Given the description of an element on the screen output the (x, y) to click on. 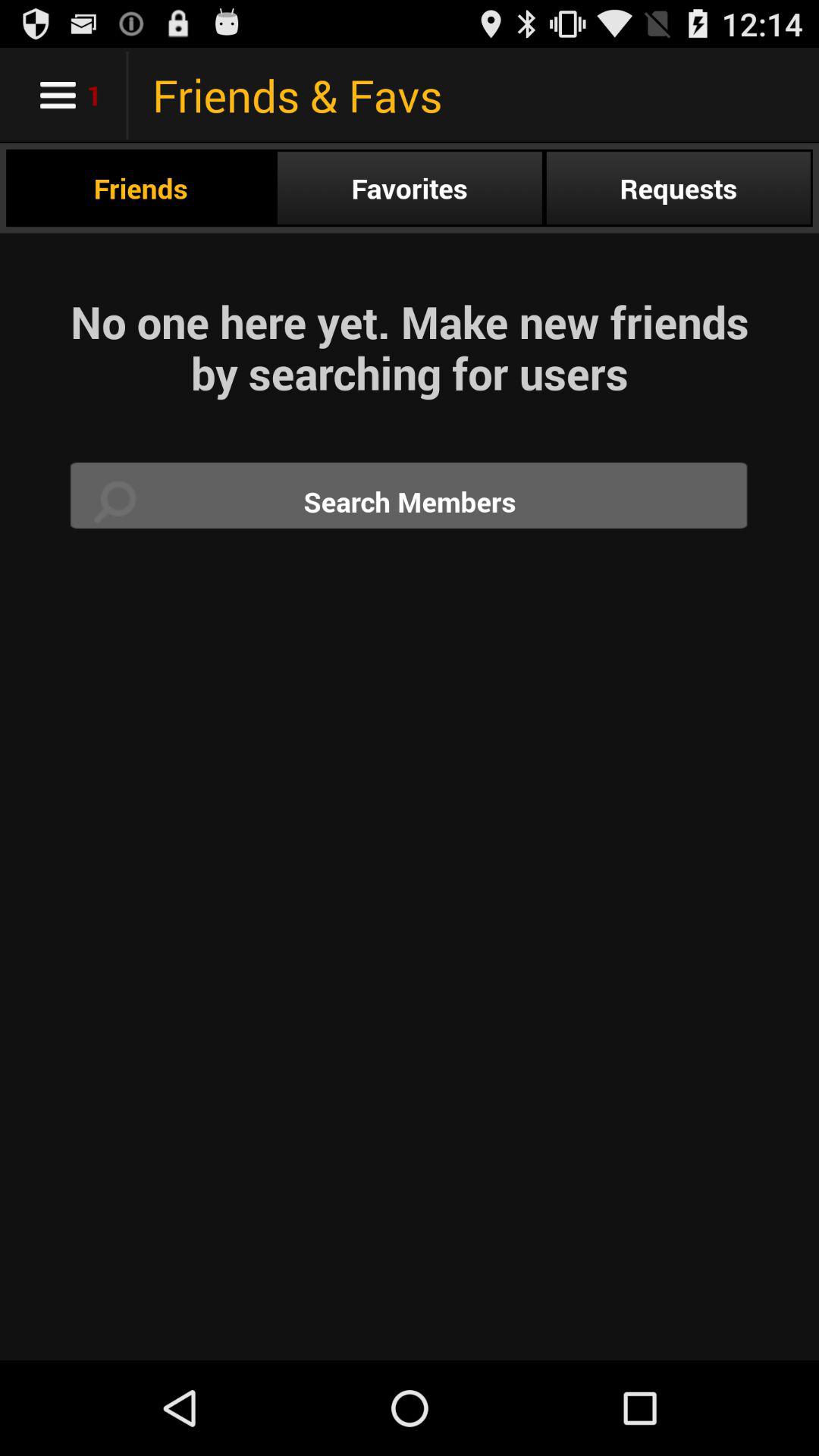
open app above the no one here (409, 187)
